Given the description of an element on the screen output the (x, y) to click on. 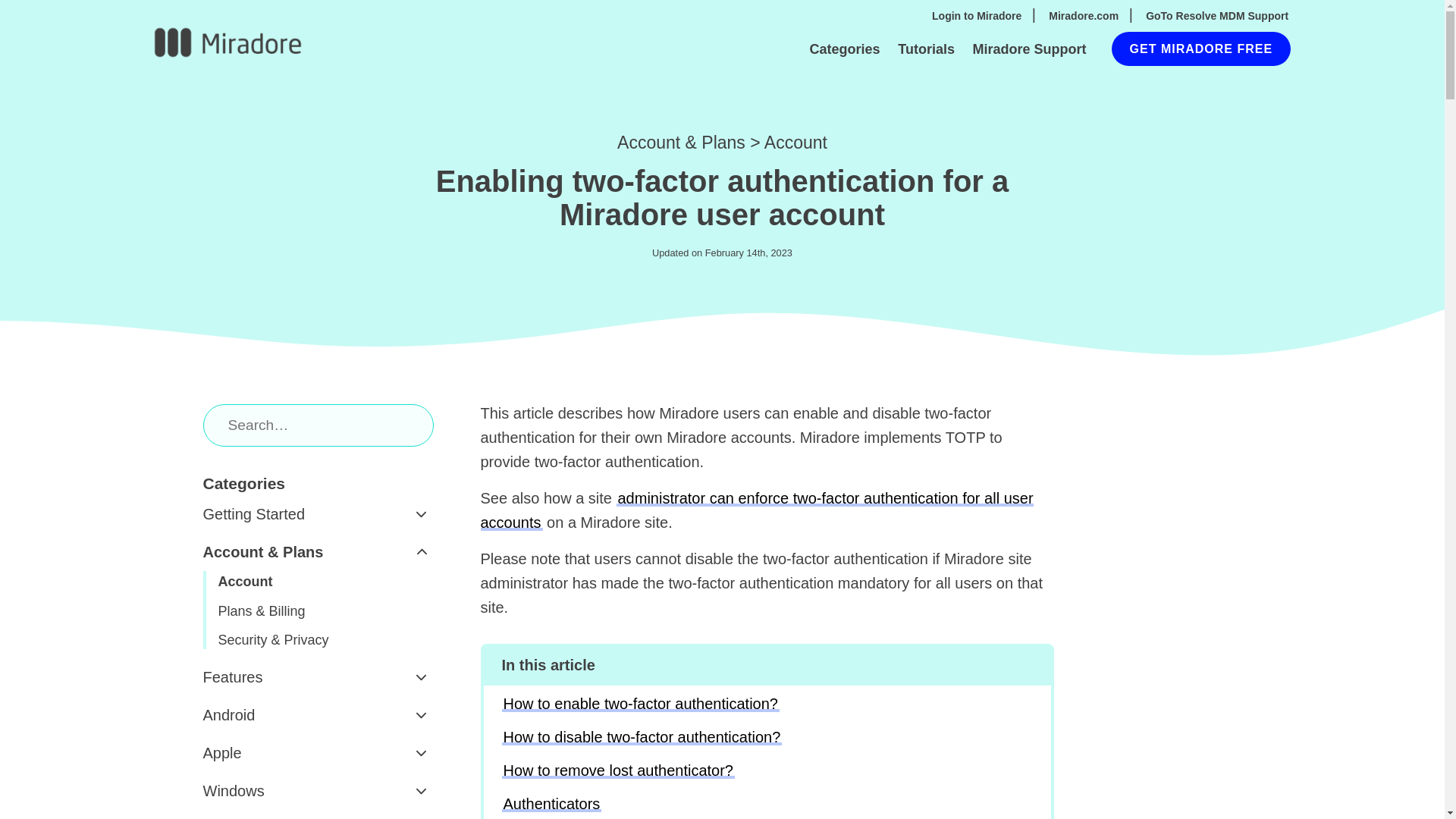
How to enable two-factor authentication? (640, 703)
GET MIRADORE FREE (1201, 48)
How to remove lost authenticator? (618, 770)
GoTo Resolve MDM Support (1216, 16)
Tutorials (926, 49)
Miradore Support (1029, 49)
Login to Miradore (976, 16)
How to disable two-factor authentication? (642, 736)
Authenticators (552, 803)
Account (795, 142)
Miradore.com (1083, 16)
Categories (844, 49)
